Given the description of an element on the screen output the (x, y) to click on. 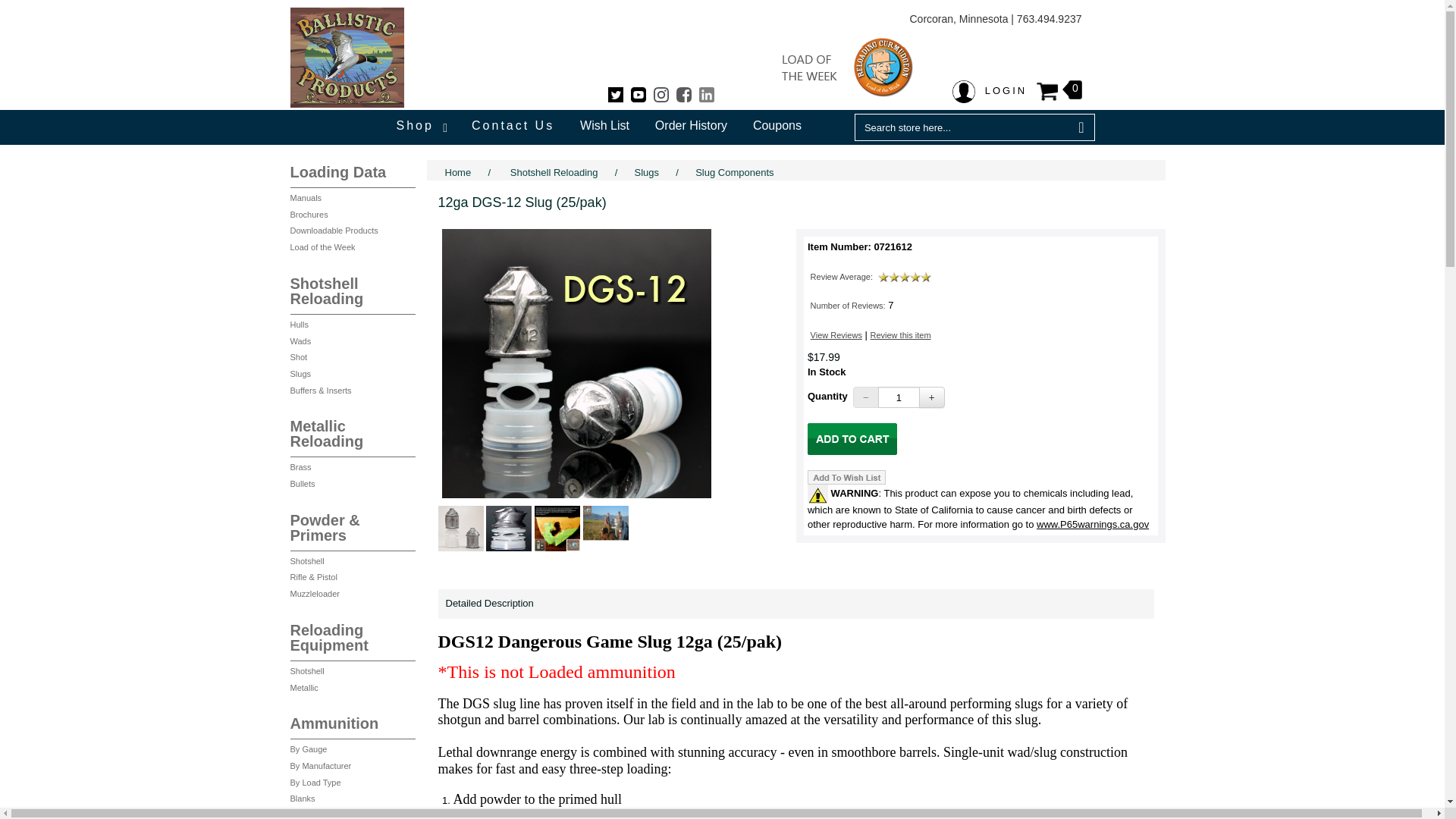
ballisticproducts.com (845, 66)
cart (852, 439)
Shop (420, 124)
Shop (420, 124)
  LOGIN (989, 91)
wishlist (846, 477)
1 (898, 396)
ballisticproducts.com (346, 57)
